Given the description of an element on the screen output the (x, y) to click on. 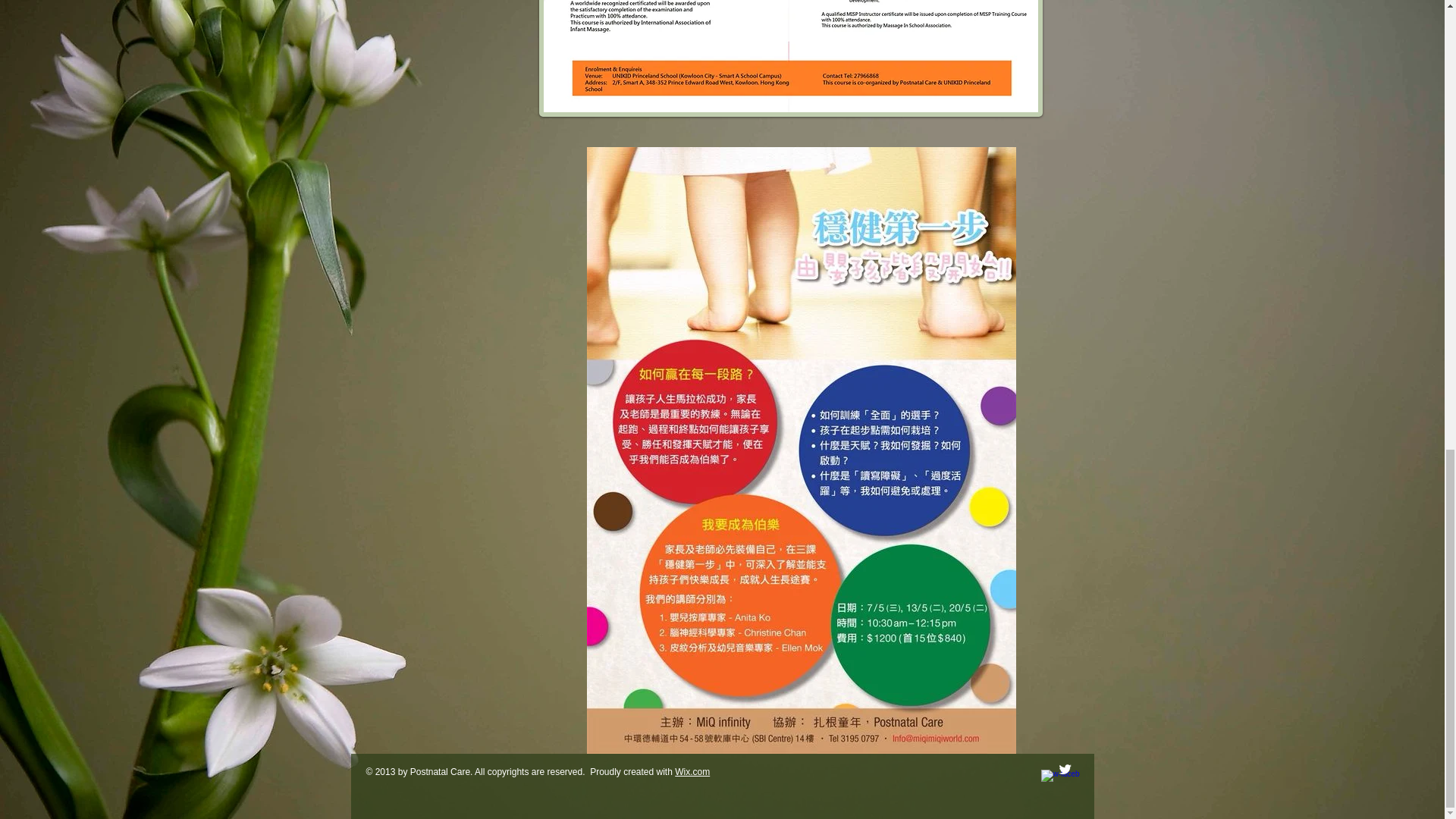
Wix.com (692, 771)
